Given the description of an element on the screen output the (x, y) to click on. 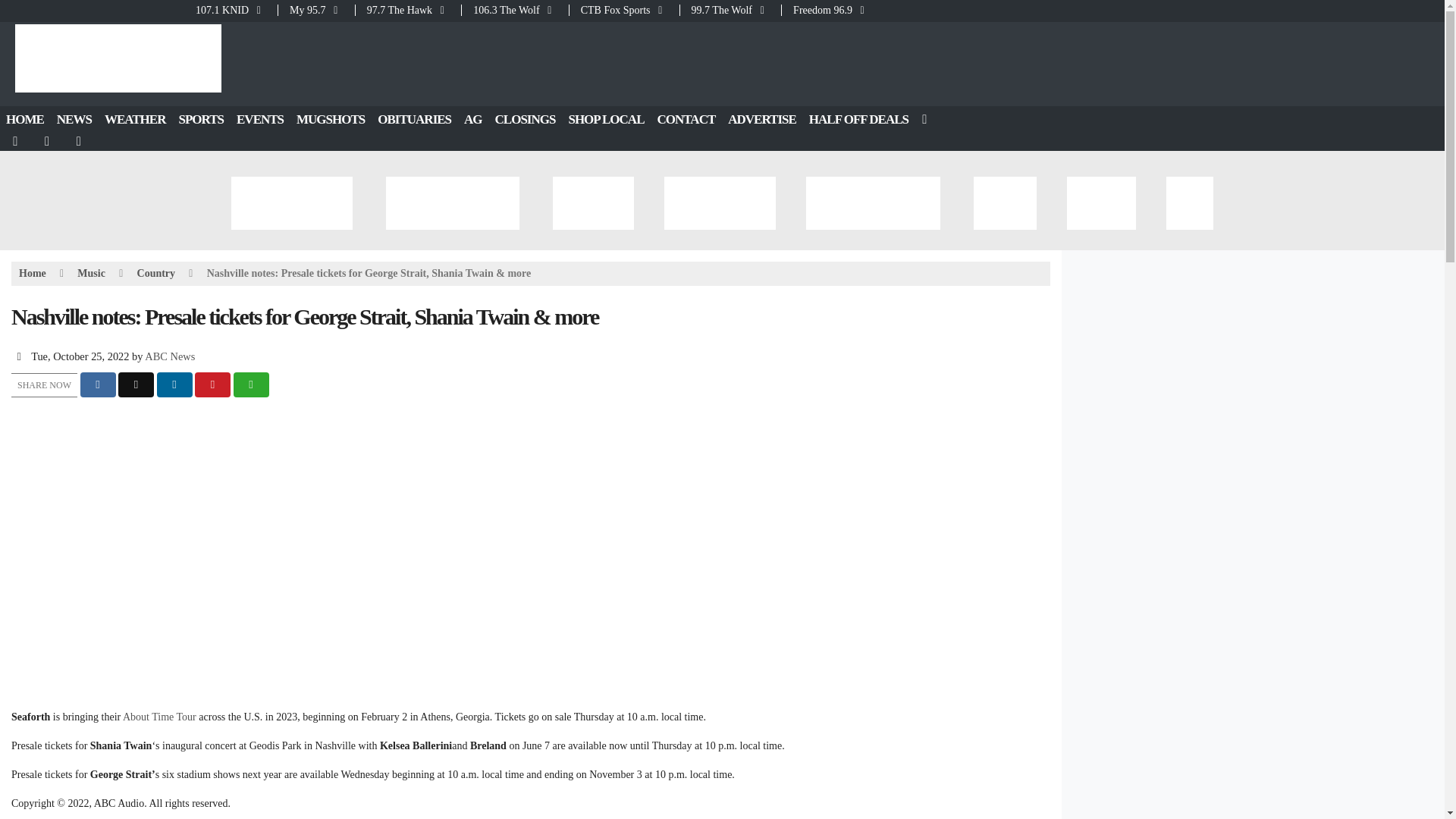
My 95.7 (316, 9)
Follow us on Instagram (80, 140)
Posts by ABC News (169, 356)
Follow us on Facebook (16, 140)
107.1 KNID (235, 9)
Share to Facebook (98, 384)
Follow us on X (48, 140)
